Given the description of an element on the screen output the (x, y) to click on. 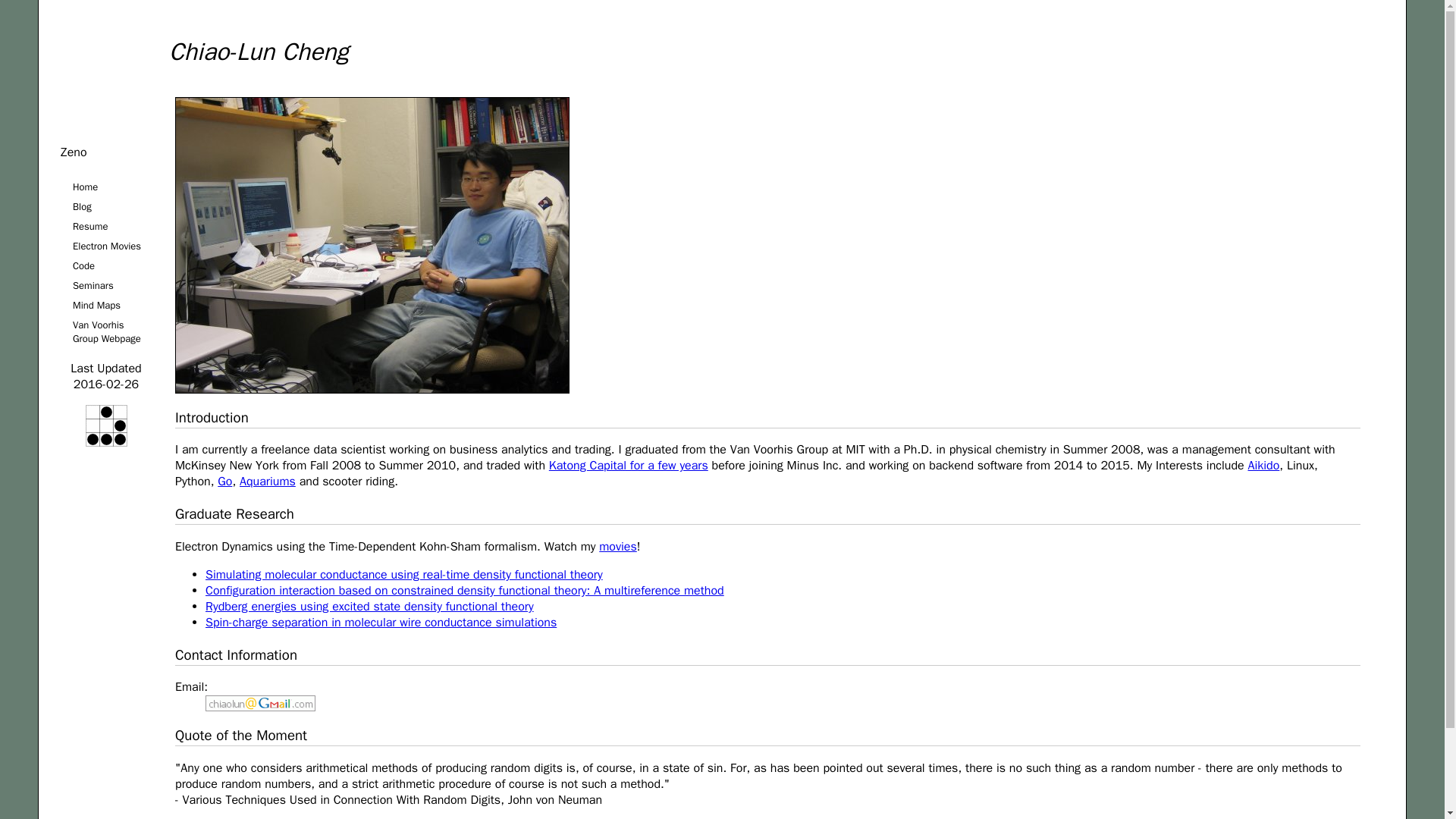
Home (106, 187)
Code (106, 266)
movies (617, 546)
Aquariums (267, 481)
Mind Maps (106, 305)
Resume (106, 226)
Blog (106, 207)
Blog (106, 207)
Katong Capital for a few years (627, 465)
Electron Movies (106, 246)
Seminars (106, 285)
Home (106, 187)
Van Voorhis Group Webpage (106, 331)
